Given the description of an element on the screen output the (x, y) to click on. 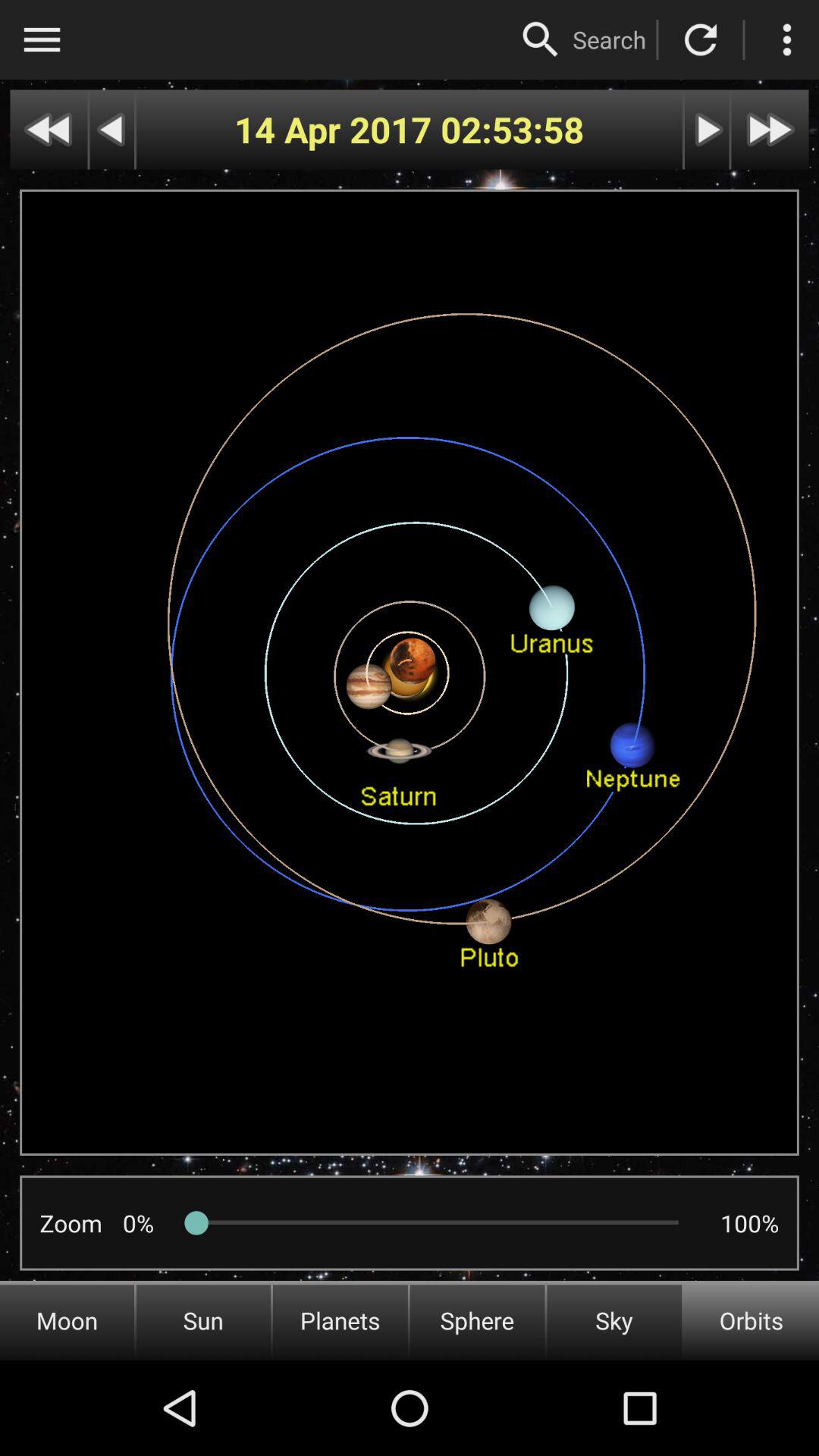
click the app to the left of the search icon (540, 39)
